Given the description of an element on the screen output the (x, y) to click on. 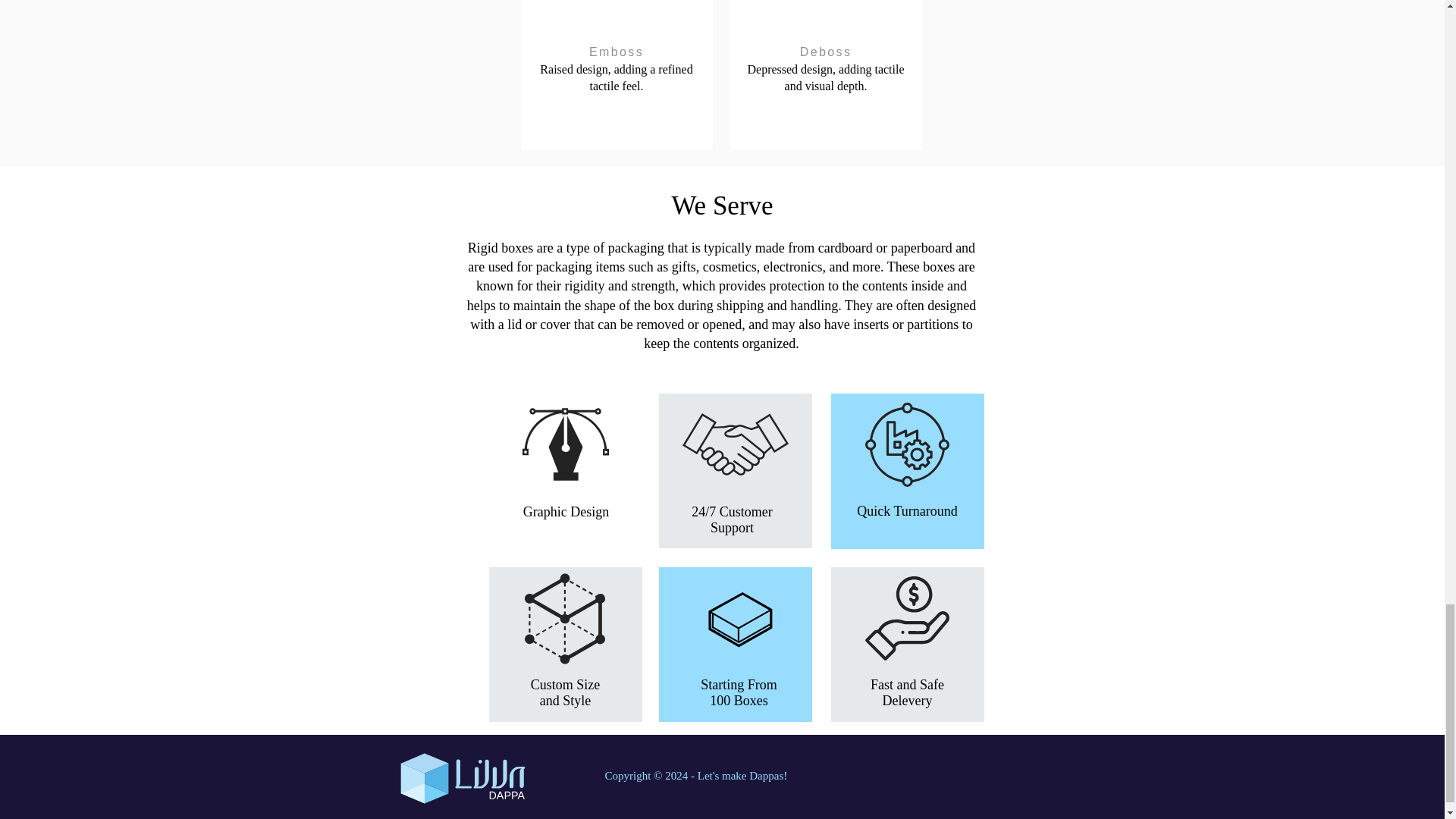
Deboss (825, 51)
Emboss (617, 51)
